Given the description of an element on the screen output the (x, y) to click on. 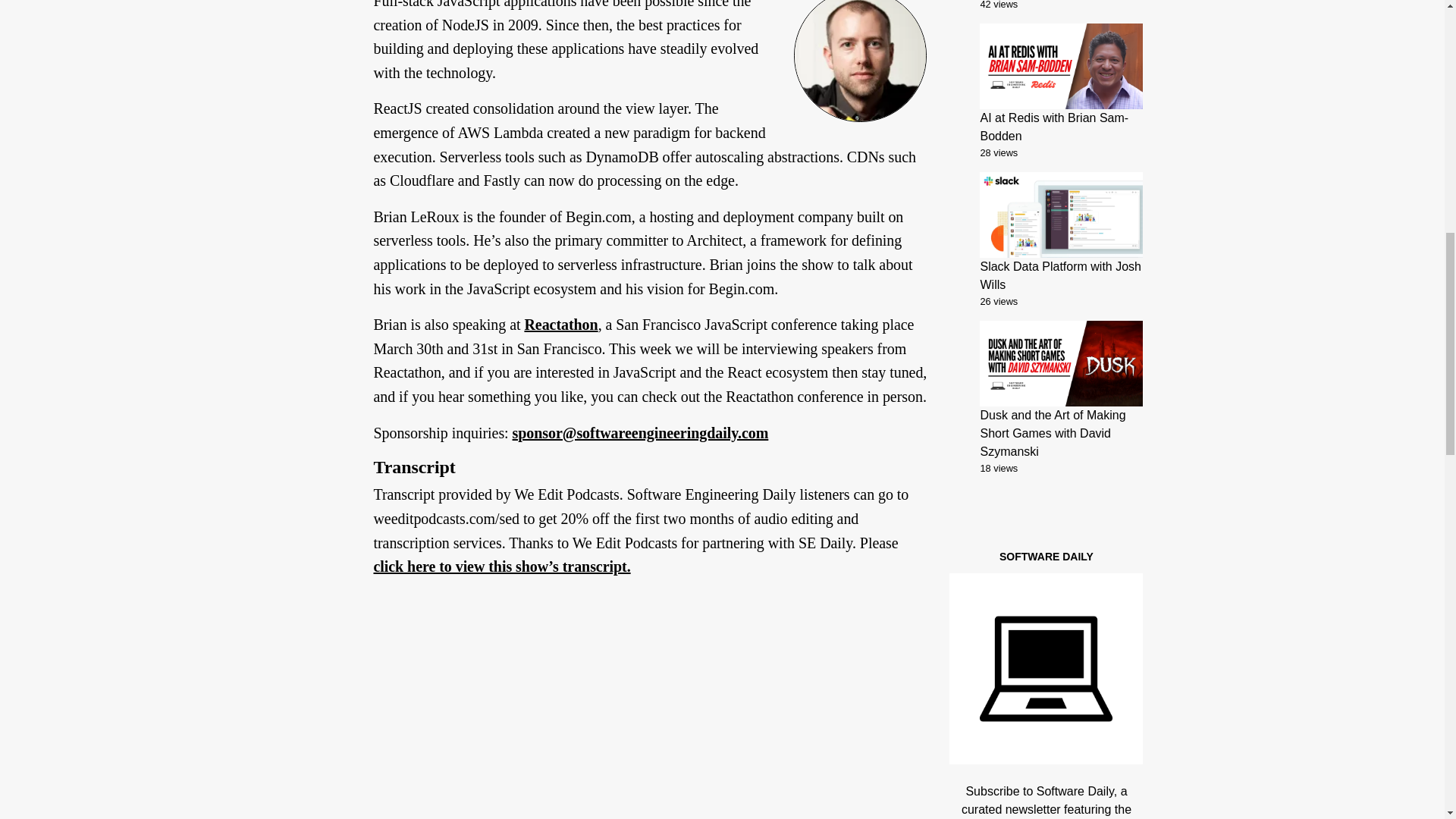
Software Daily (1045, 667)
